Given the description of an element on the screen output the (x, y) to click on. 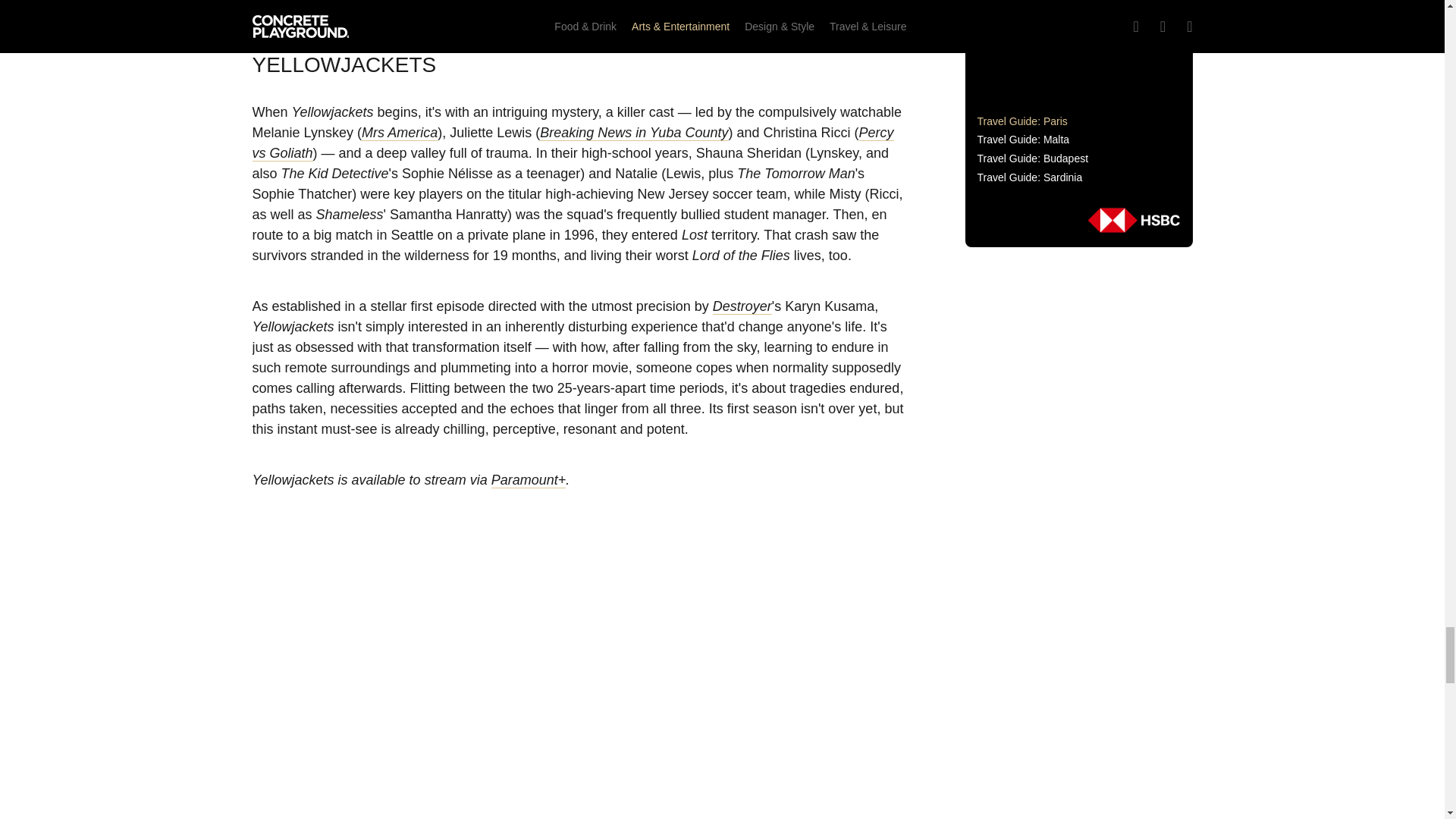
YouTube video player (577, 6)
